Given the description of an element on the screen output the (x, y) to click on. 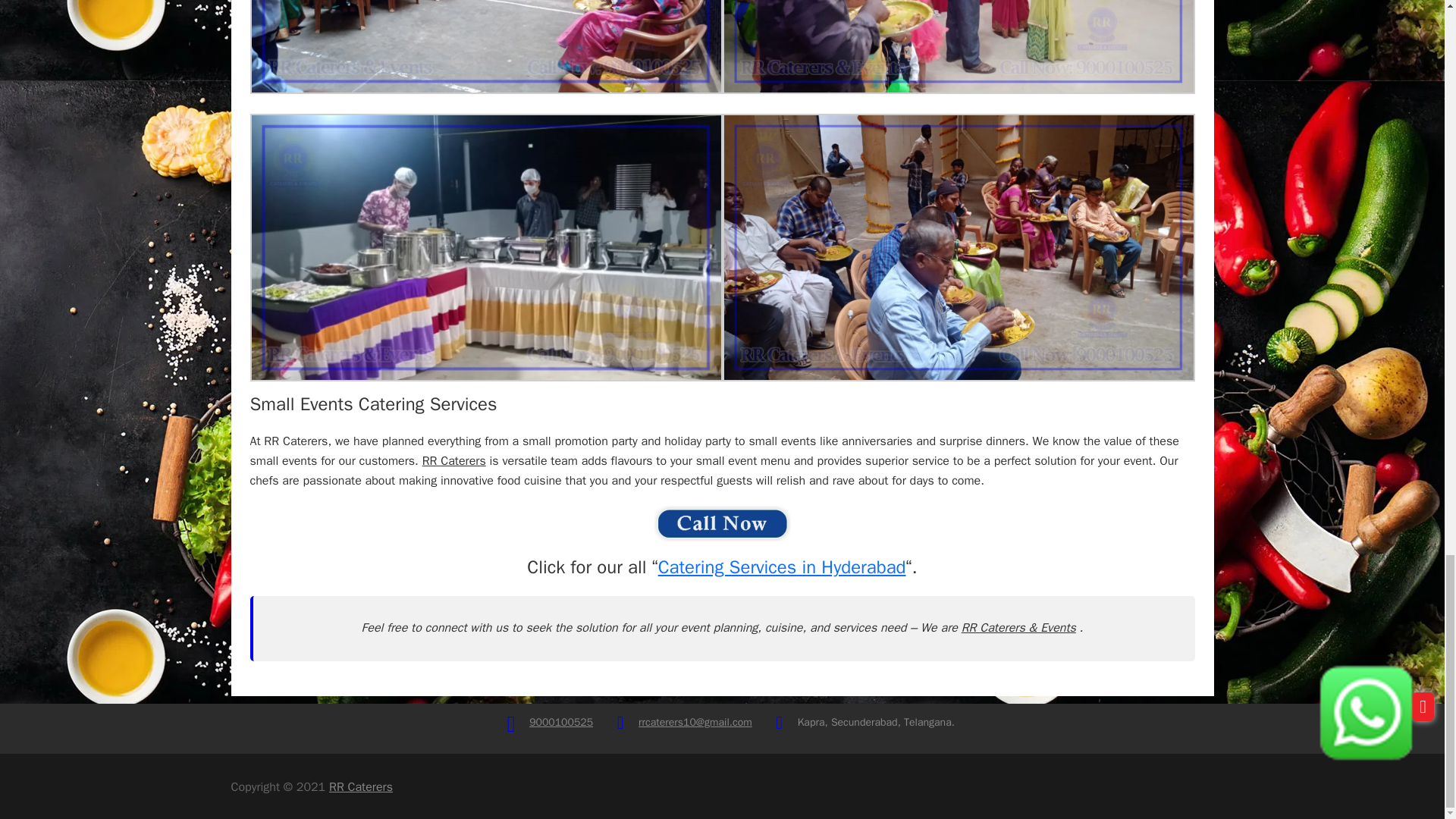
Catering Services in Hyderabad (781, 567)
RR Caterers (454, 460)
 Call Us  (560, 721)
9000100525 (560, 721)
 Mail Us  (695, 721)
RR Caterers (361, 786)
